Given the description of an element on the screen output the (x, y) to click on. 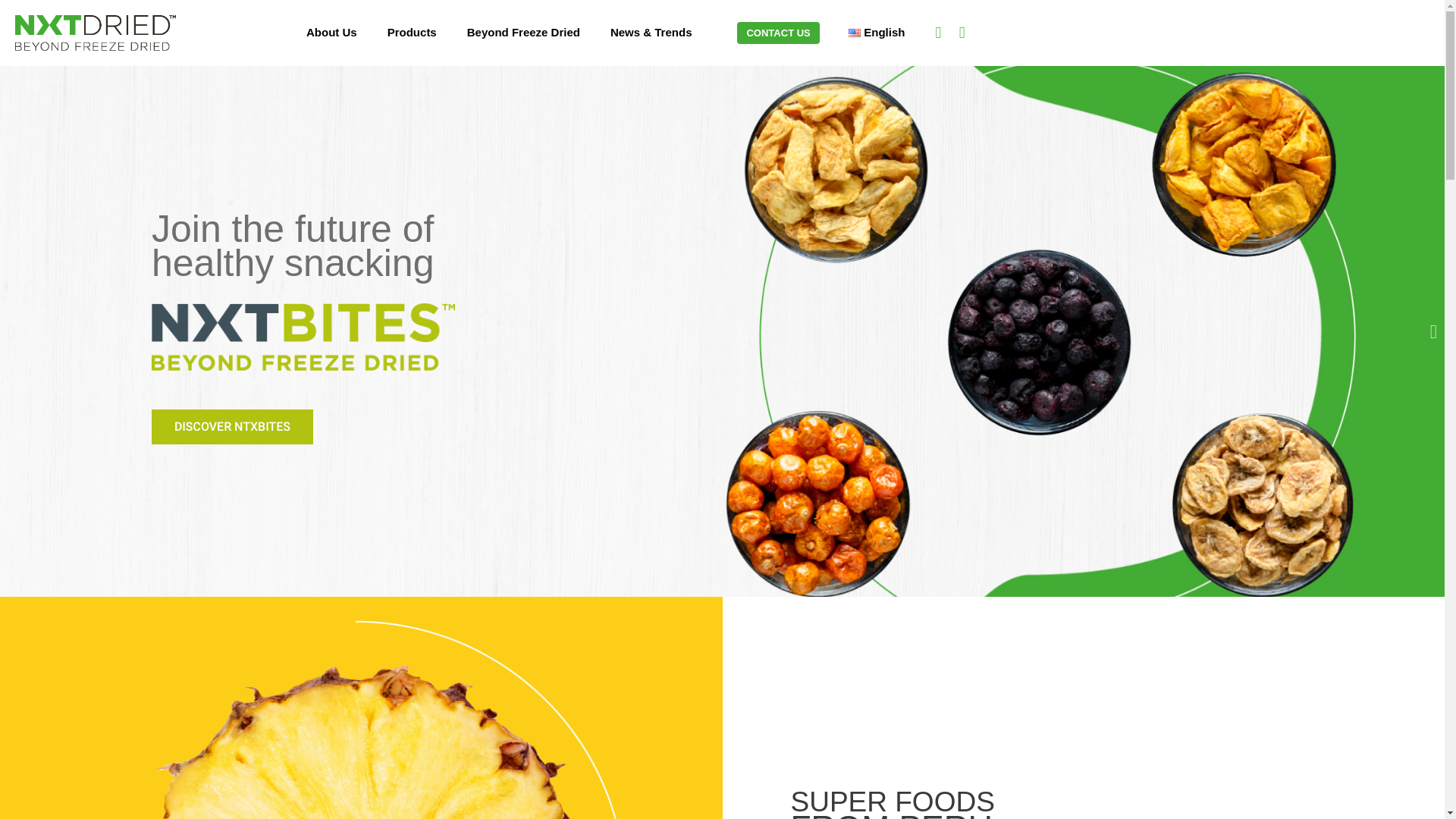
About Us (331, 32)
Products (411, 32)
